Given the description of an element on the screen output the (x, y) to click on. 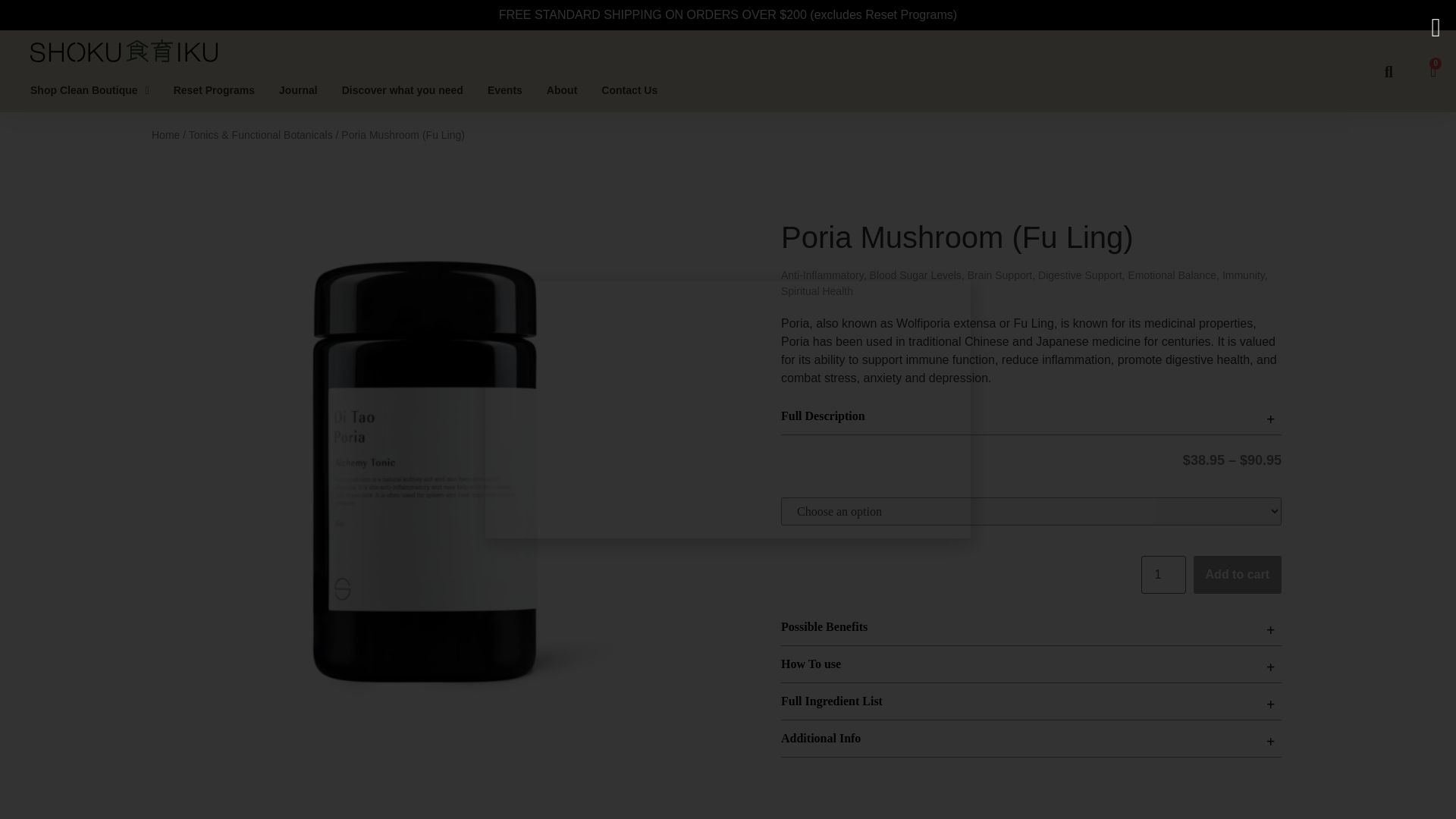
1 (1163, 574)
Shop Clean Boutique (92, 90)
